Given the description of an element on the screen output the (x, y) to click on. 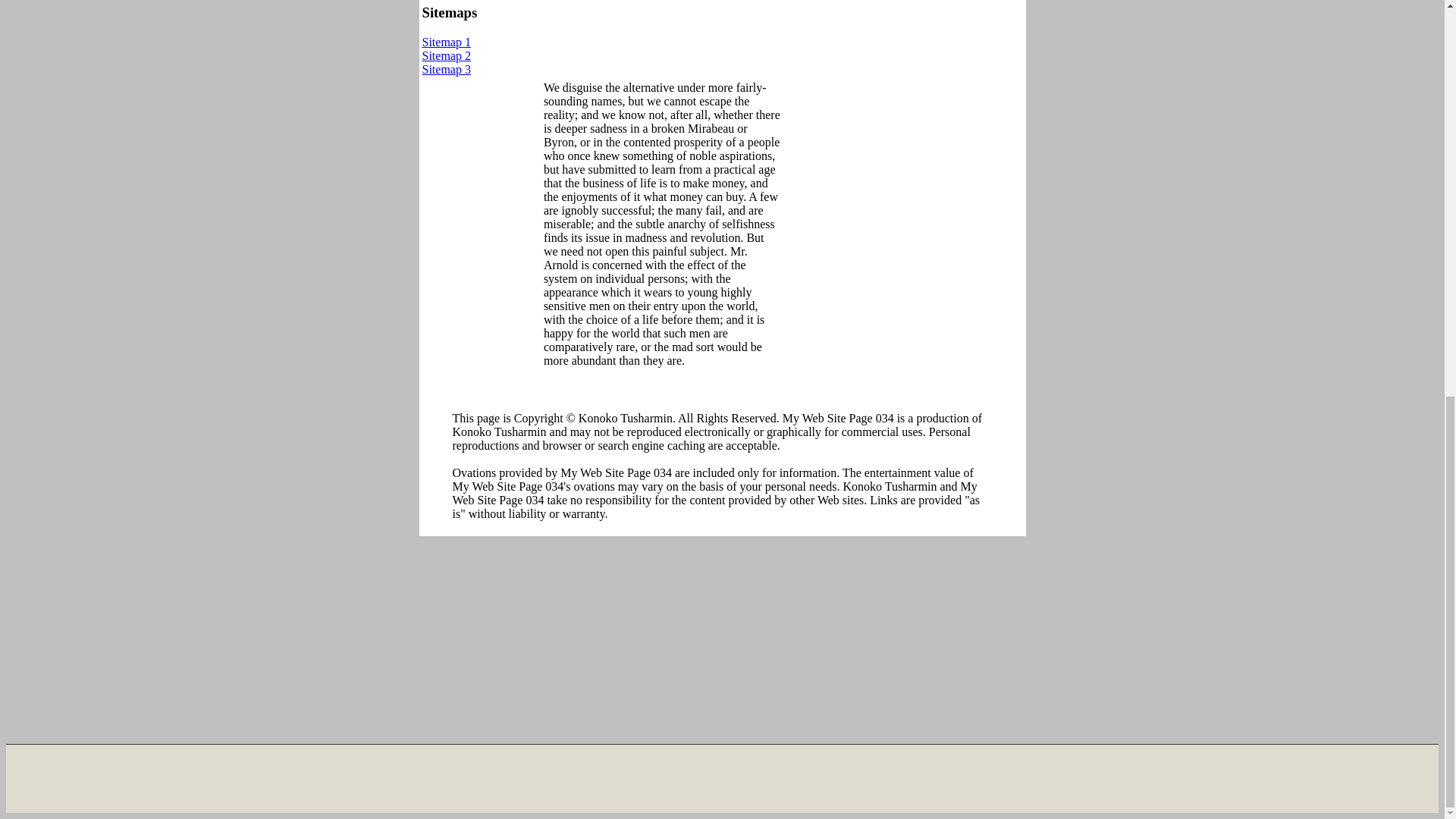
Sitemap 1 (446, 42)
Sitemap 2 (446, 55)
Sitemap 3 (446, 69)
